Given the description of an element on the screen output the (x, y) to click on. 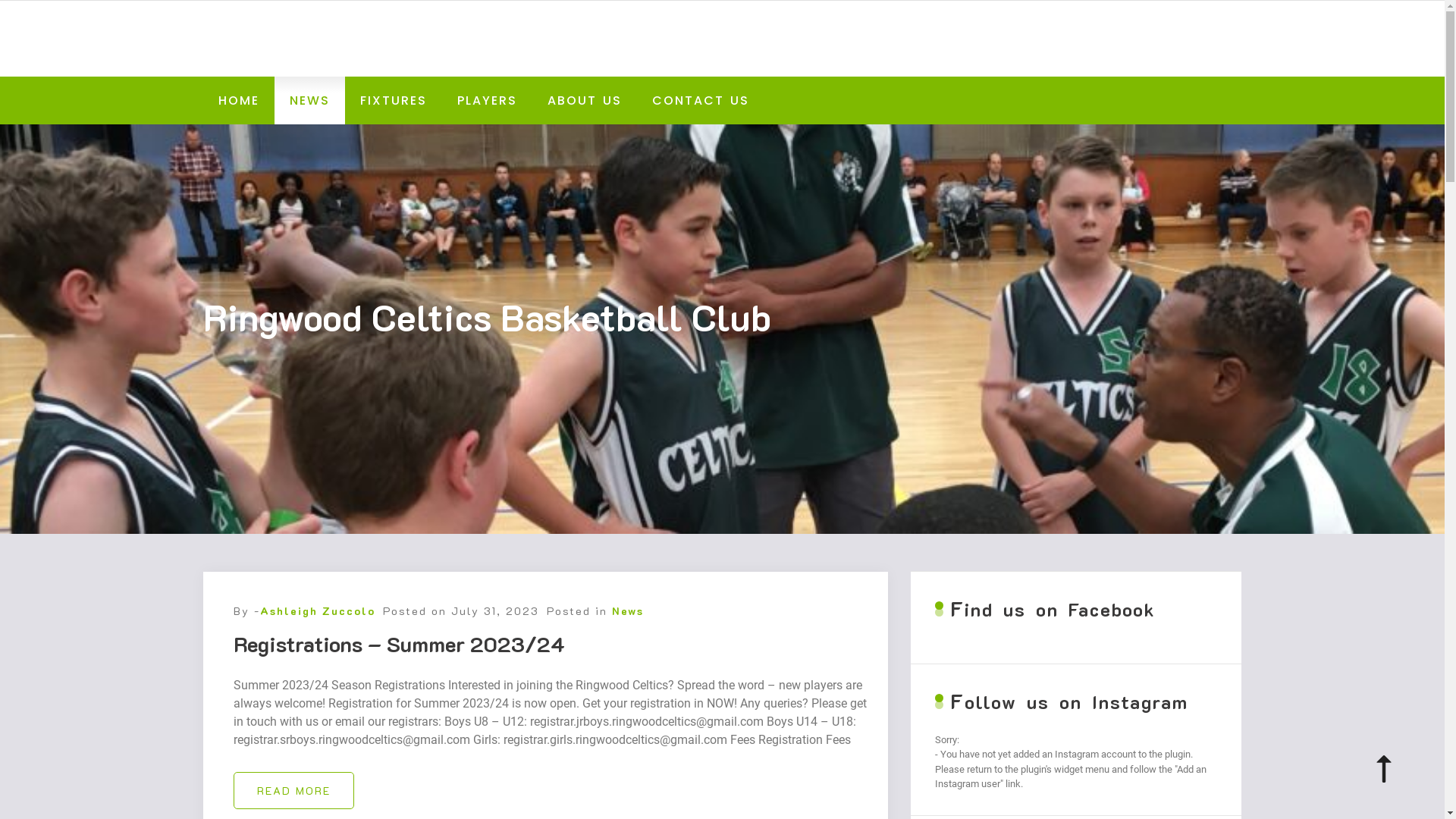
Ashleigh Zuccolo Element type: text (316, 610)
READ MORE Element type: text (293, 790)
NEWS Element type: text (309, 100)
CONTACT US Element type: text (700, 100)
News Element type: text (627, 610)
PLAYERS Element type: text (486, 100)
ABOUT US Element type: text (584, 100)
HOME Element type: text (238, 100)
FIXTURES Element type: text (392, 100)
